Given the description of an element on the screen output the (x, y) to click on. 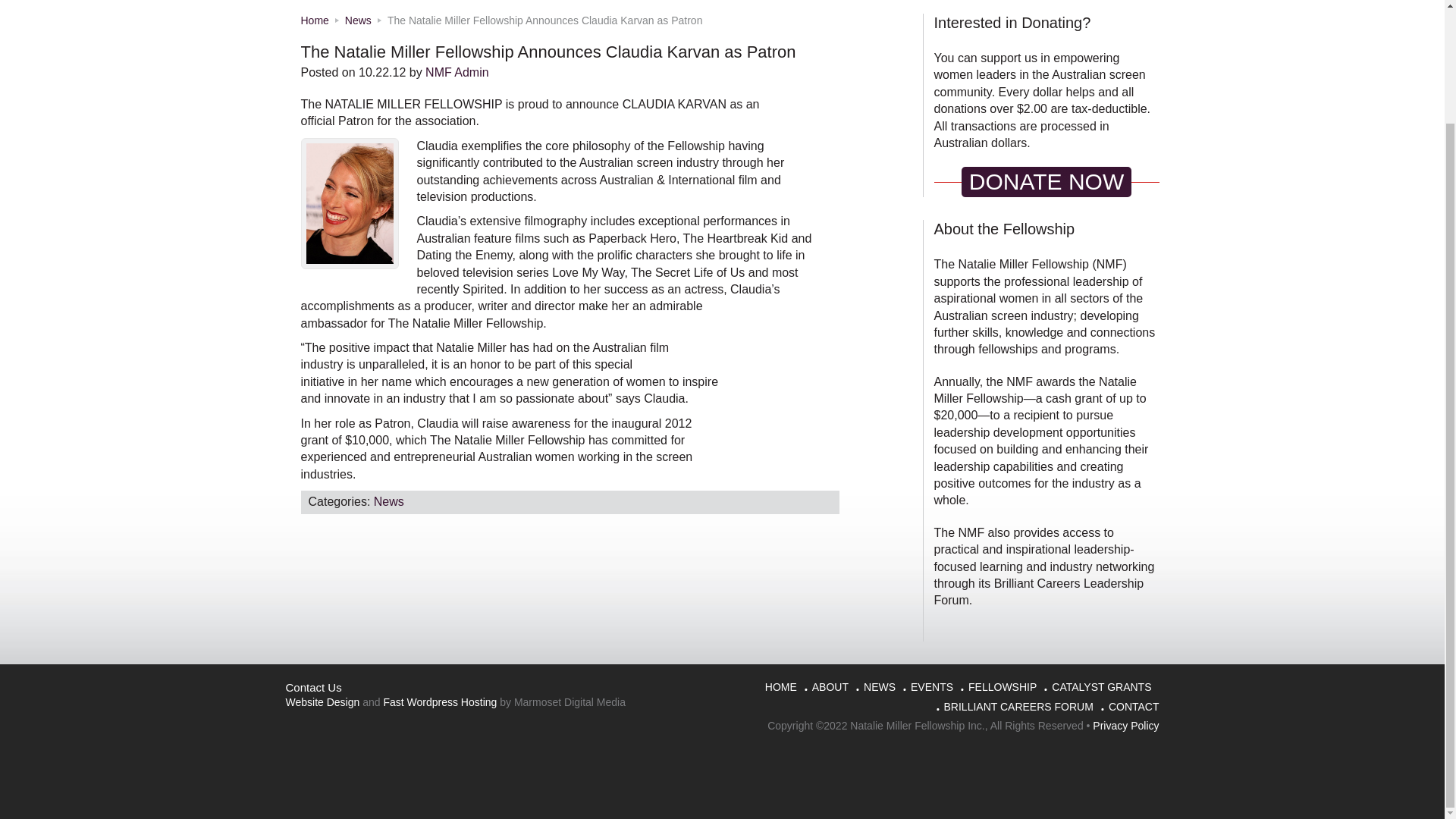
News (358, 20)
News (389, 501)
NMF Admin (457, 72)
Contact Us (312, 686)
DONATE NOW (1045, 182)
Fast Wordpress Hosting (439, 702)
HOME (781, 689)
Home (314, 20)
ABOUT (830, 689)
Website Design (322, 702)
